Given the description of an element on the screen output the (x, y) to click on. 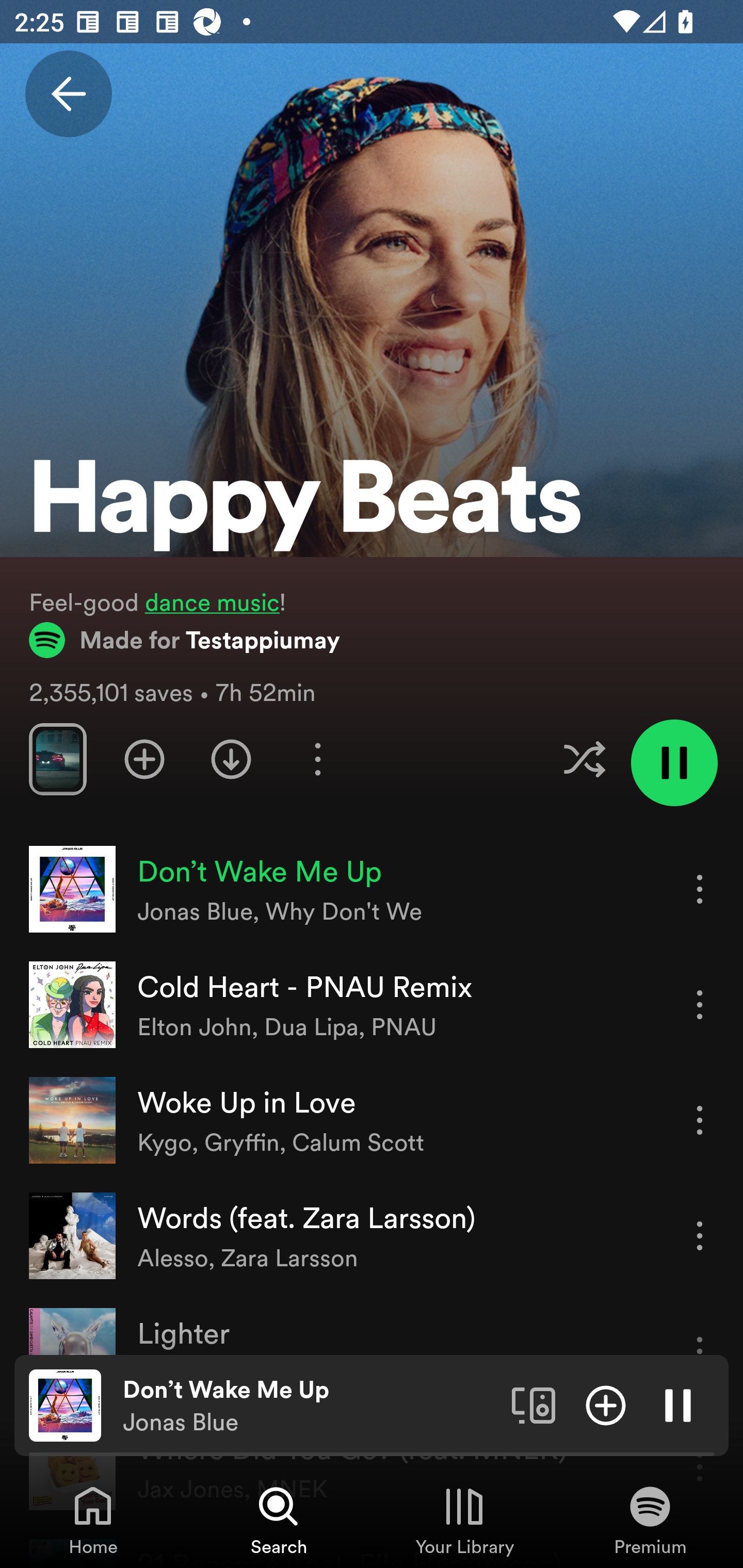
Back (68, 93)
Made for Testappiumay (184, 640)
Swipe through previews of tracks in this playlist. (57, 759)
Add playlist to Your Library (144, 759)
Download (230, 759)
More options for playlist Happy Beats (317, 759)
Enable shuffle for this playlist (583, 759)
Pause playlist (674, 762)
More options for song Don’t Wake Me Up (699, 888)
More options for song Cold Heart - PNAU Remix (699, 1004)
More options for song Woke Up in Love (699, 1120)
More options for song Words (feat. Zara Larsson) (699, 1236)
Don’t Wake Me Up Jonas Blue (309, 1405)
The cover art of the currently playing track (64, 1404)
Connect to a device. Opens the devices menu (533, 1404)
Add item (605, 1404)
Pause (677, 1404)
Home, Tab 1 of 4 Home Home (92, 1519)
Search, Tab 2 of 4 Search Search (278, 1519)
Your Library, Tab 3 of 4 Your Library Your Library (464, 1519)
Premium, Tab 4 of 4 Premium Premium (650, 1519)
